Given the description of an element on the screen output the (x, y) to click on. 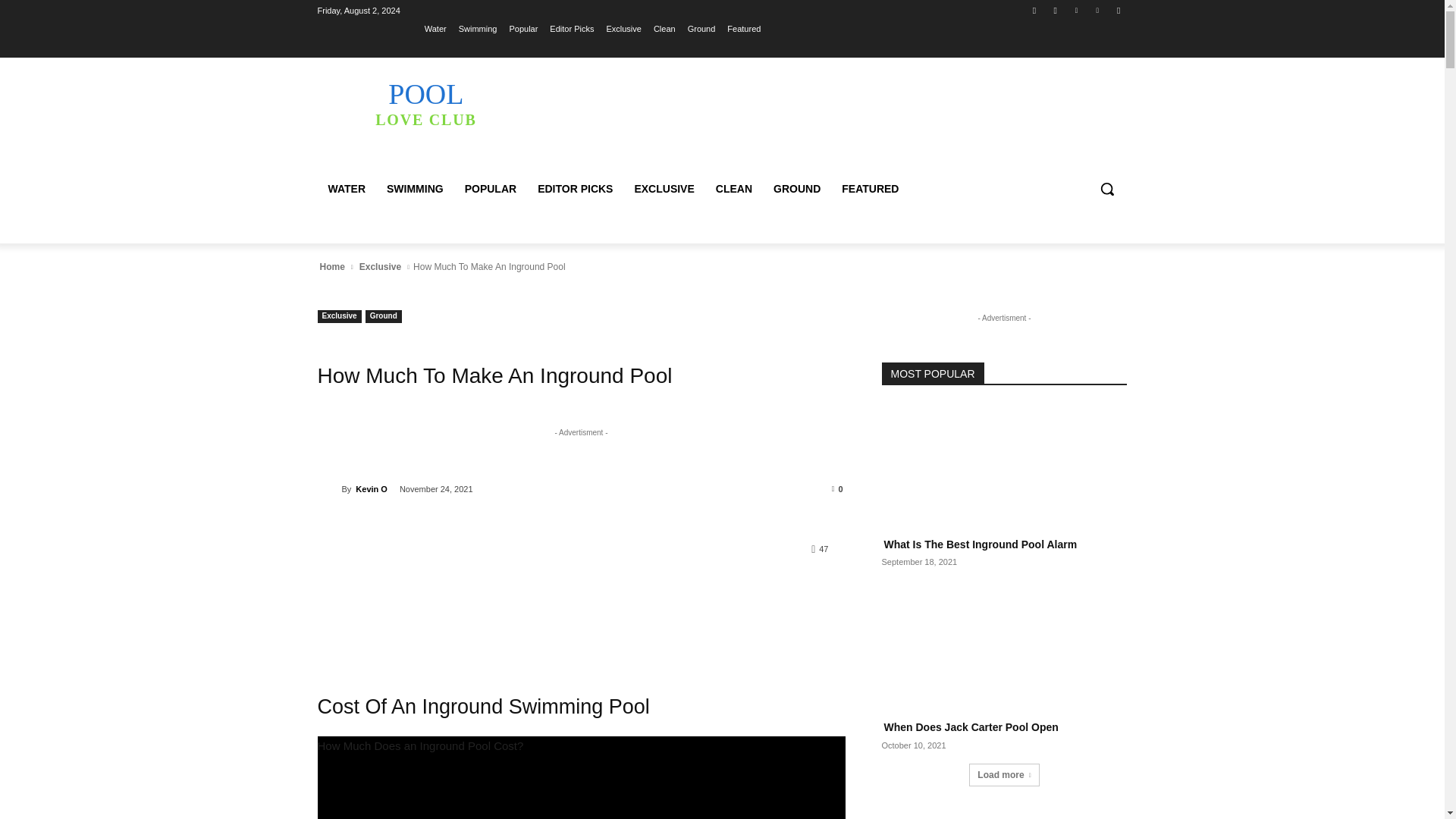
EDITOR PICKS (575, 188)
WATER (346, 188)
CLEAN (733, 188)
Twitter (1075, 9)
Exclusive (622, 28)
EXCLUSIVE (663, 188)
Clean (664, 28)
Featured (743, 28)
Ground (701, 28)
Editor Picks (572, 28)
SWIMMING (414, 188)
POPULAR (490, 188)
Instagram (425, 102)
Facebook (1055, 9)
